Given the description of an element on the screen output the (x, y) to click on. 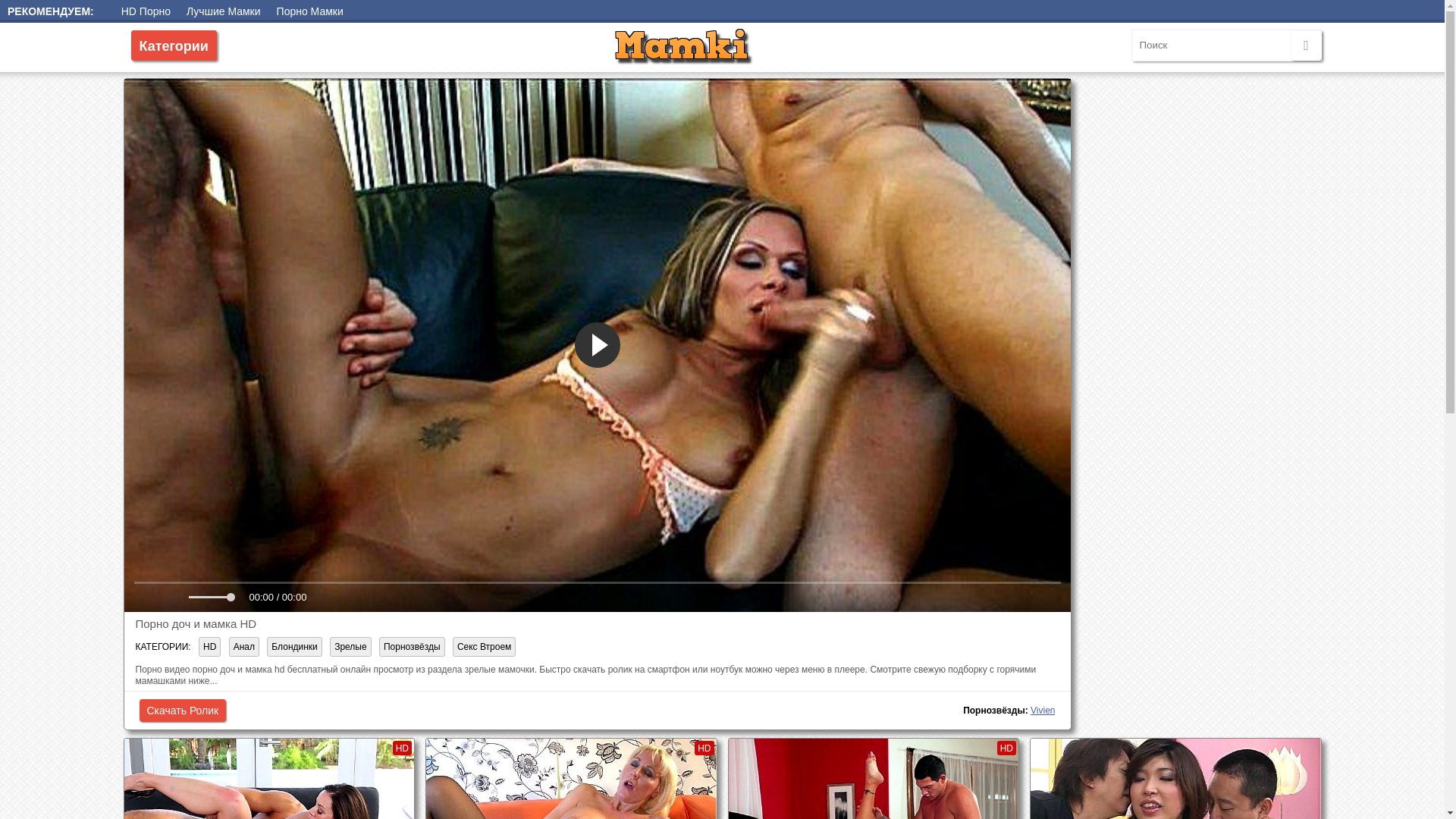
HD Element type: text (209, 646)
Vivien Element type: text (1042, 710)
